Given the description of an element on the screen output the (x, y) to click on. 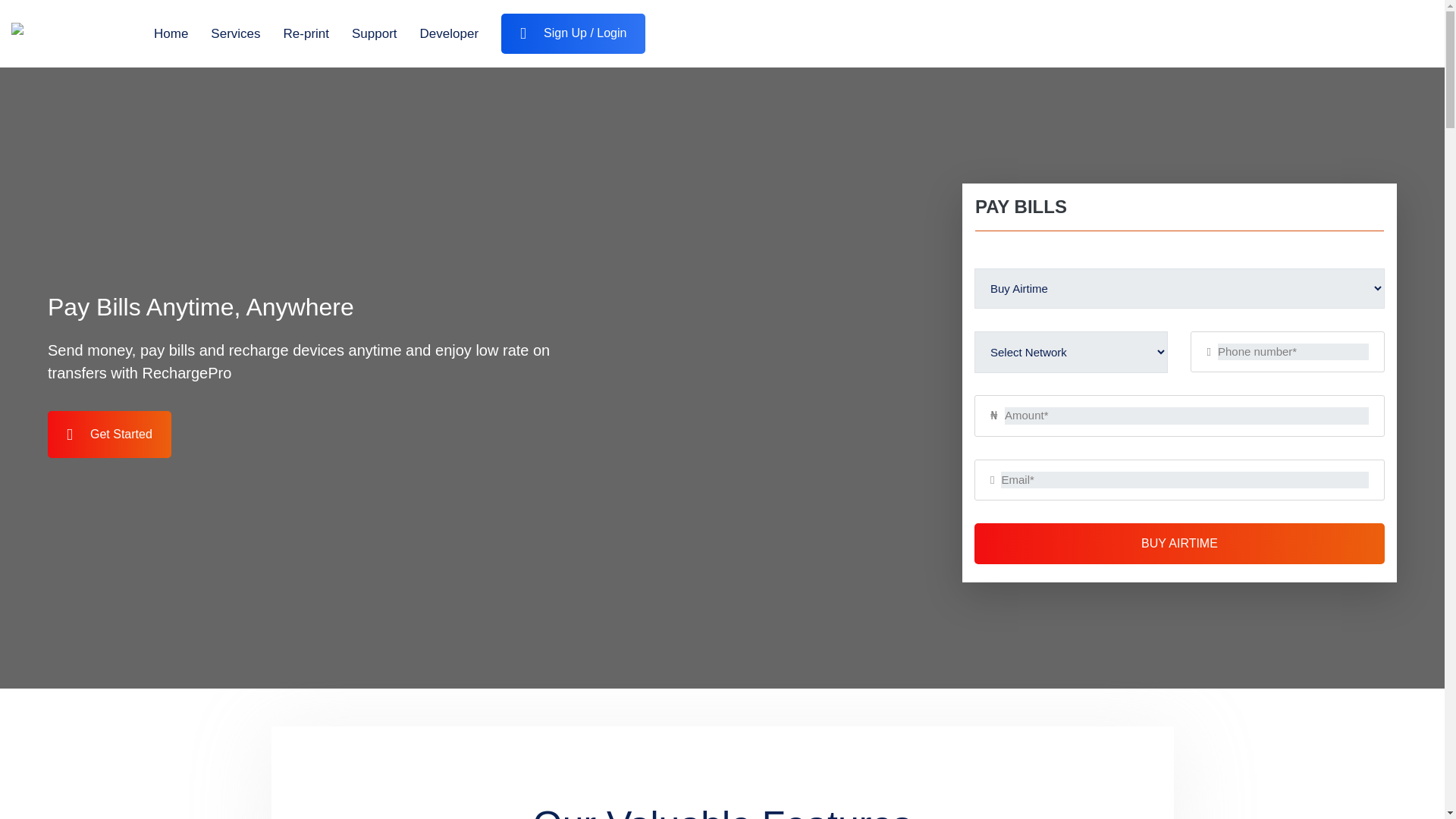
Support (374, 34)
Services (235, 34)
Get Started (109, 434)
Home (170, 34)
Re-print (306, 34)
Developer (449, 34)
BUY AIRTIME (1179, 543)
